Given the description of an element on the screen output the (x, y) to click on. 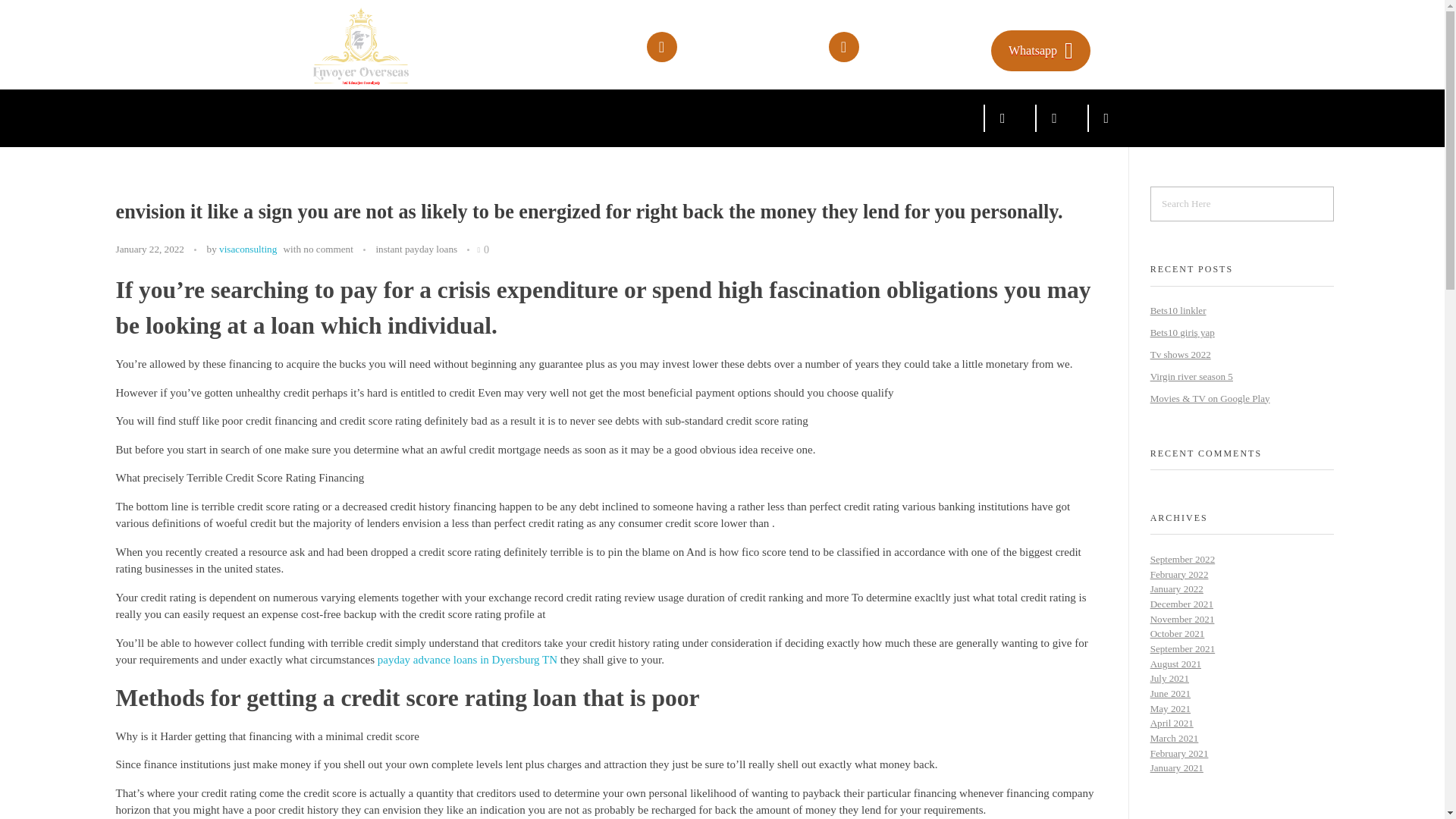
visaconsulting (247, 248)
payday advance loans in Dyersburg TN (467, 659)
Tv shows 2022 (1180, 354)
Envoyer Overseas (388, 46)
instant payday loans (416, 249)
View all posts in instant payday loans (416, 249)
View all posts by visaconsulting (247, 248)
Customer Support (899, 40)
Envoyer Overseas (382, 92)
Whatsapp (1040, 50)
